Given the description of an element on the screen output the (x, y) to click on. 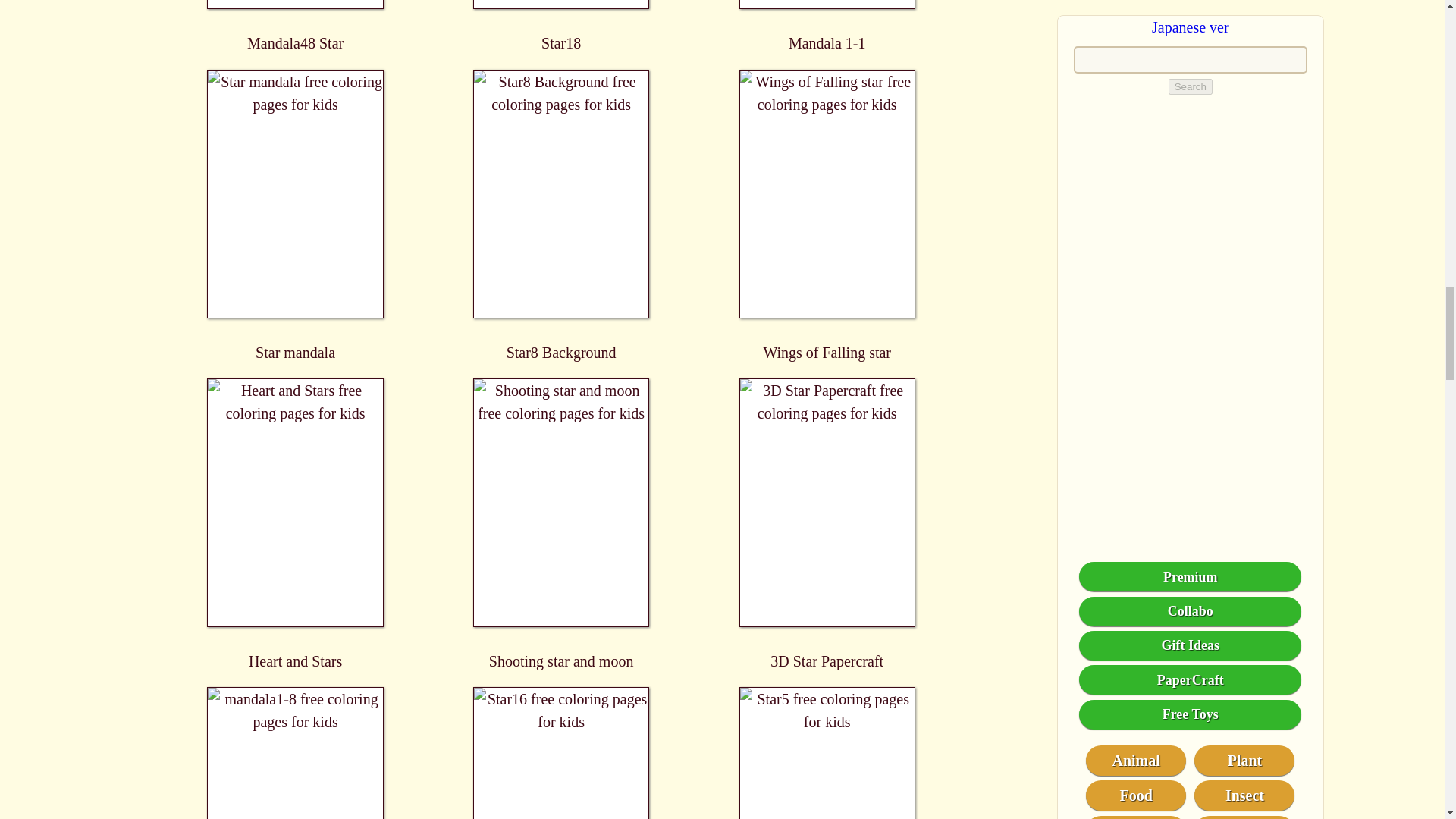
Mandala48 Star (295, 25)
Star5 (826, 753)
Star18 (561, 25)
Star16 (561, 753)
mandala1-8 (295, 753)
Mandala 1-1 (826, 25)
